Given the description of an element on the screen output the (x, y) to click on. 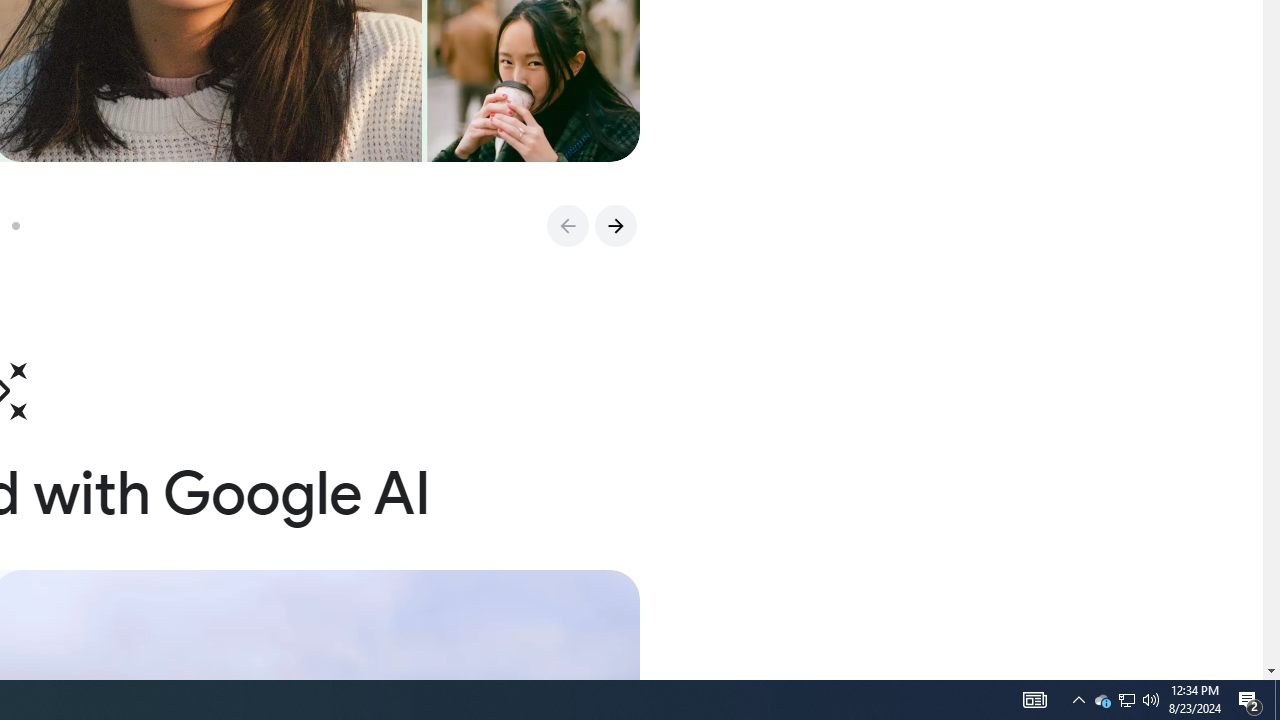
Go to Previous Slide (567, 225)
Go to Next Slide (615, 225)
Go to slide 3 (23, 225)
